Given the description of an element on the screen output the (x, y) to click on. 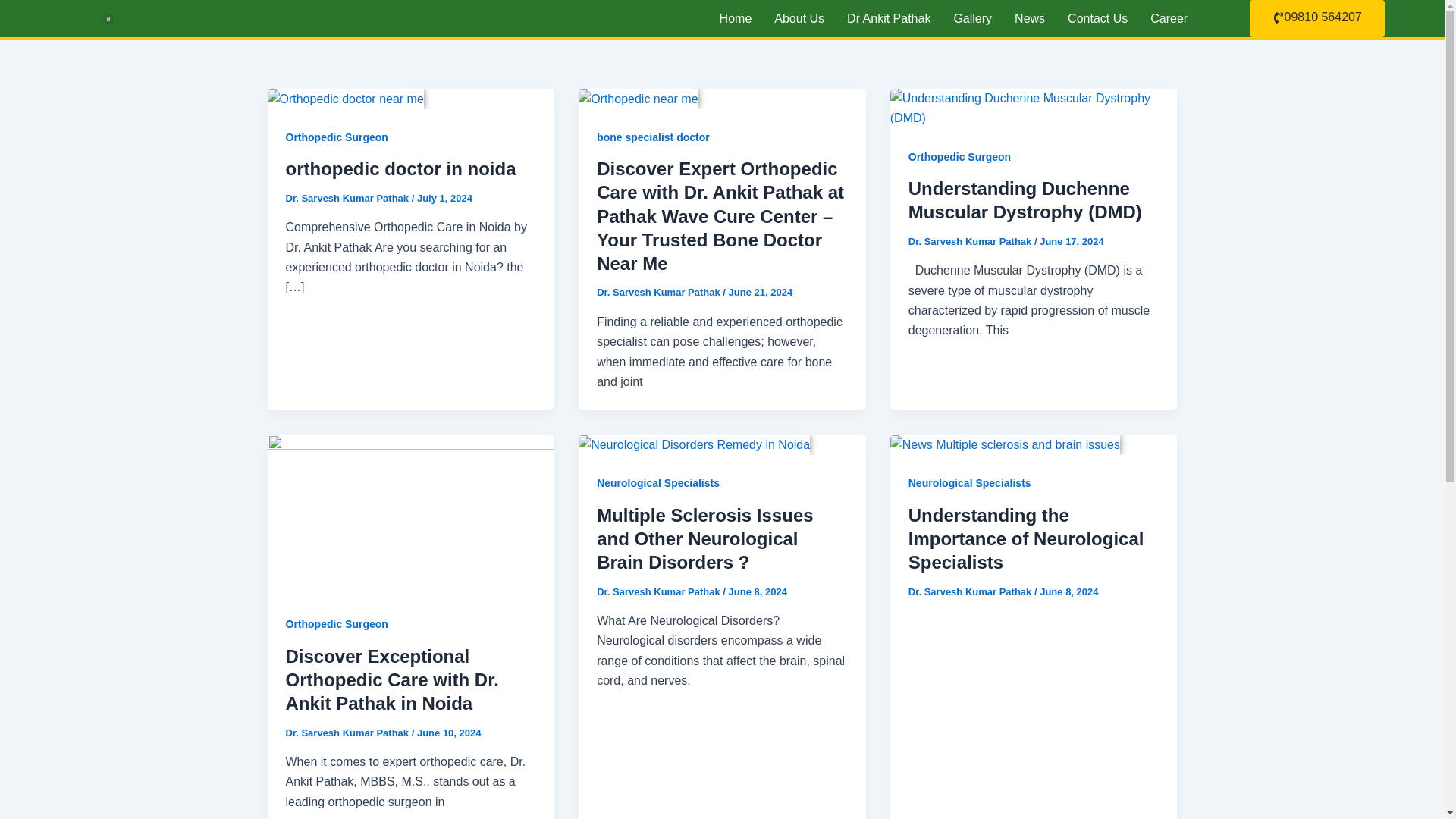
Neurological Specialists (969, 482)
View all posts by Dr. Sarvesh Kumar Pathak (970, 591)
Understanding the Importance of Neurological Specialists (1026, 538)
View all posts by Dr. Sarvesh Kumar Pathak (659, 591)
View all posts by Dr. Sarvesh Kumar Pathak (970, 241)
orthopedic doctor in noida (400, 168)
Career (1168, 18)
Neurological Specialists (657, 482)
Dr. Sarvesh Kumar Pathak (659, 591)
Home (734, 18)
Gallery (972, 18)
Dr. Sarvesh Kumar Pathak (347, 732)
Dr. Sarvesh Kumar Pathak (970, 241)
